Given the description of an element on the screen output the (x, y) to click on. 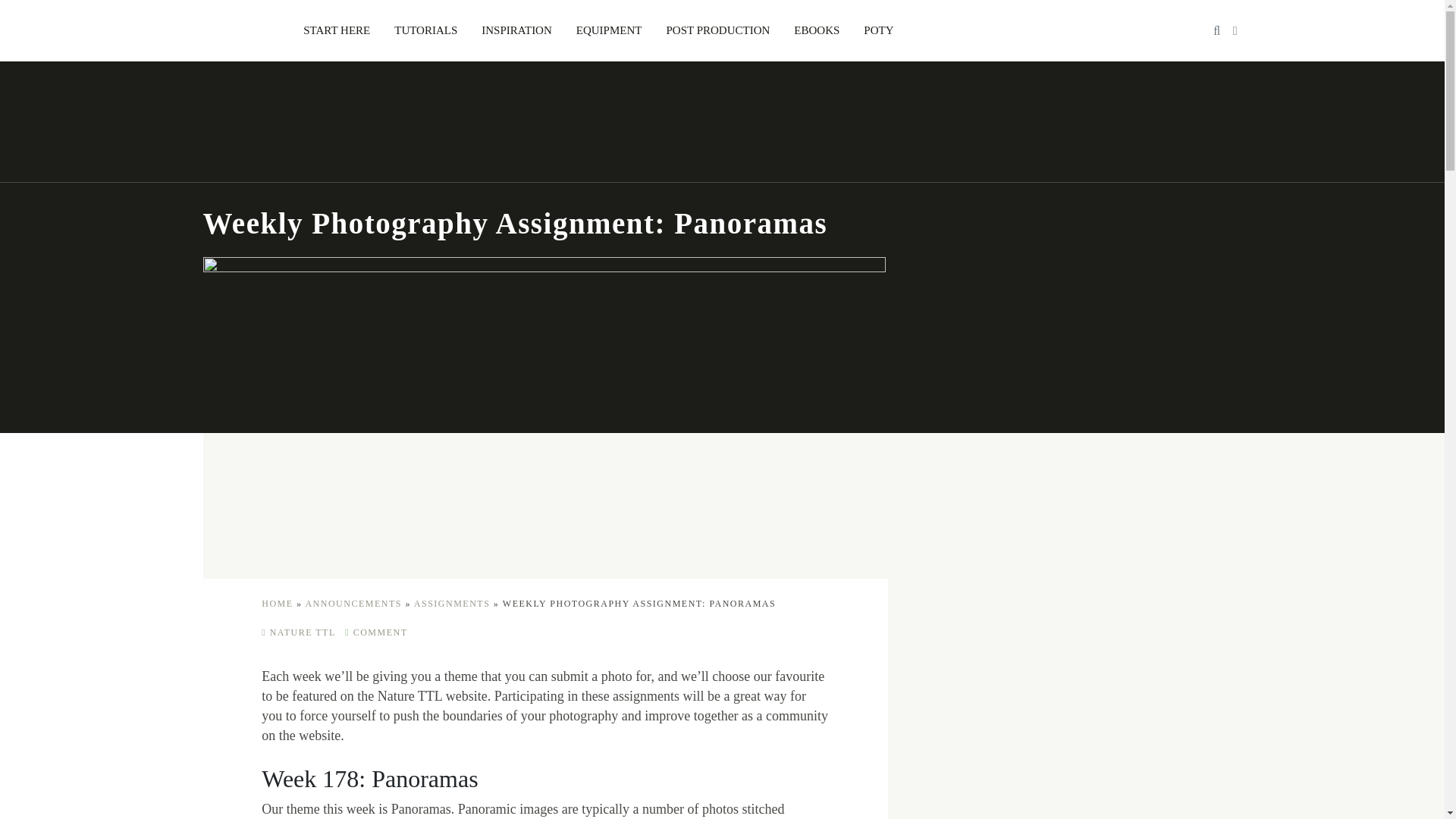
START HERE (336, 30)
TUTORIALS (424, 30)
